Given the description of an element on the screen output the (x, y) to click on. 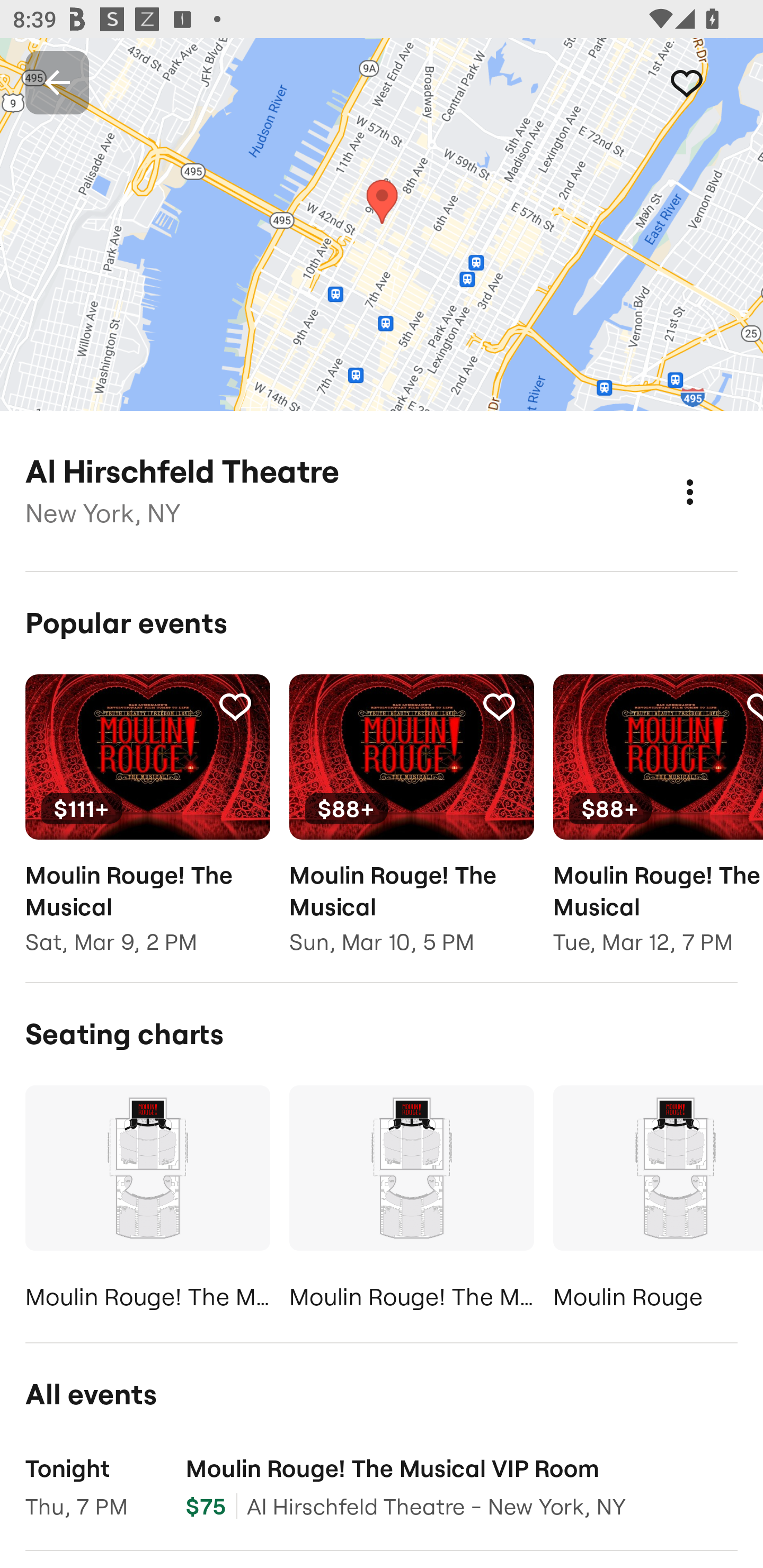
Back (57, 81)
Tracking (705, 81)
See more options (708, 472)
Tracking (234, 705)
Tracking (498, 705)
Moulin Rouge! The Musical (147, 1201)
Moulin Rouge! The Musical VIP Room (411, 1201)
Moulin Rouge (658, 1201)
